Given the description of an element on the screen output the (x, y) to click on. 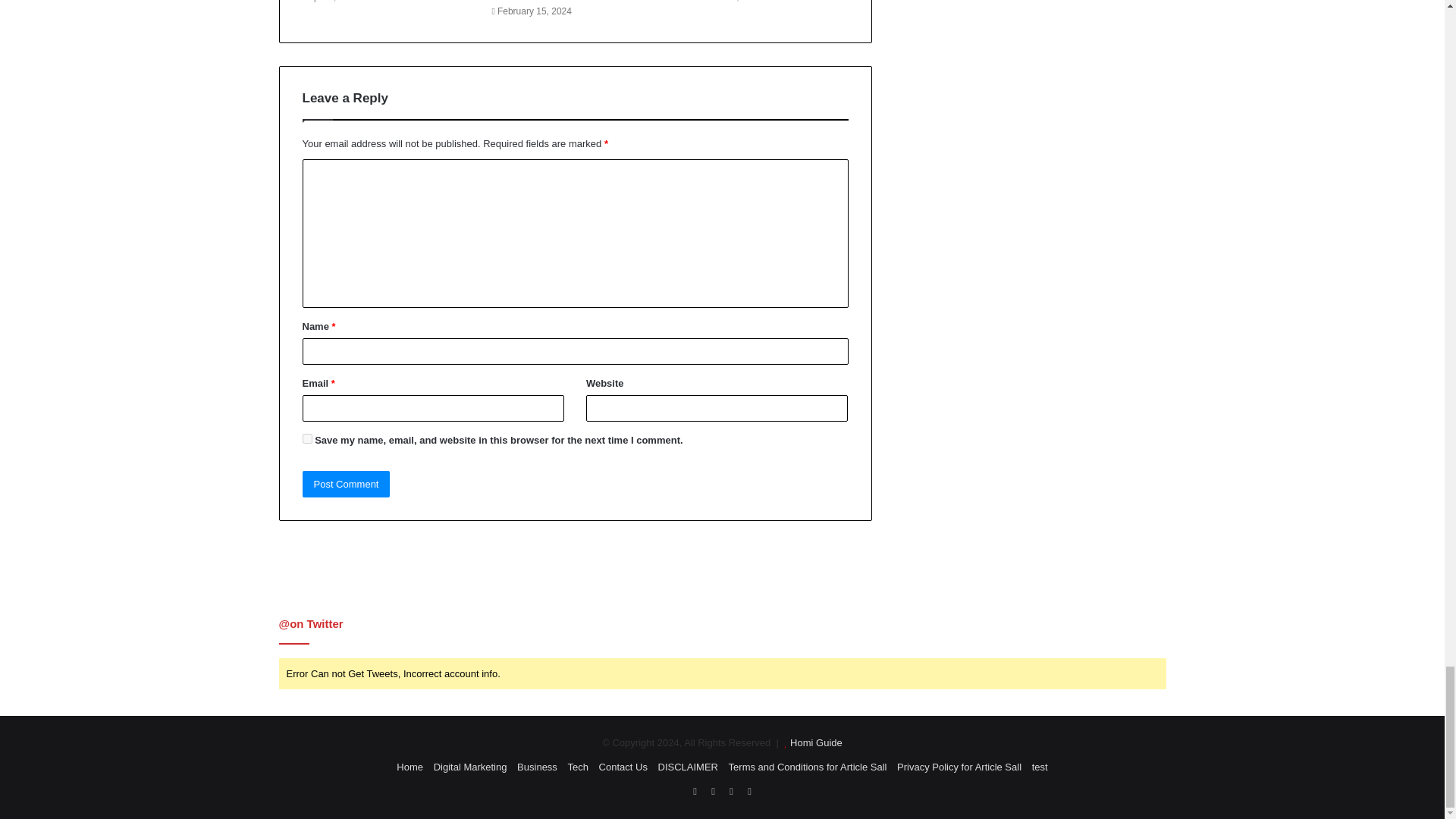
yes (306, 438)
Post Comment (345, 483)
